Given the description of an element on the screen output the (x, y) to click on. 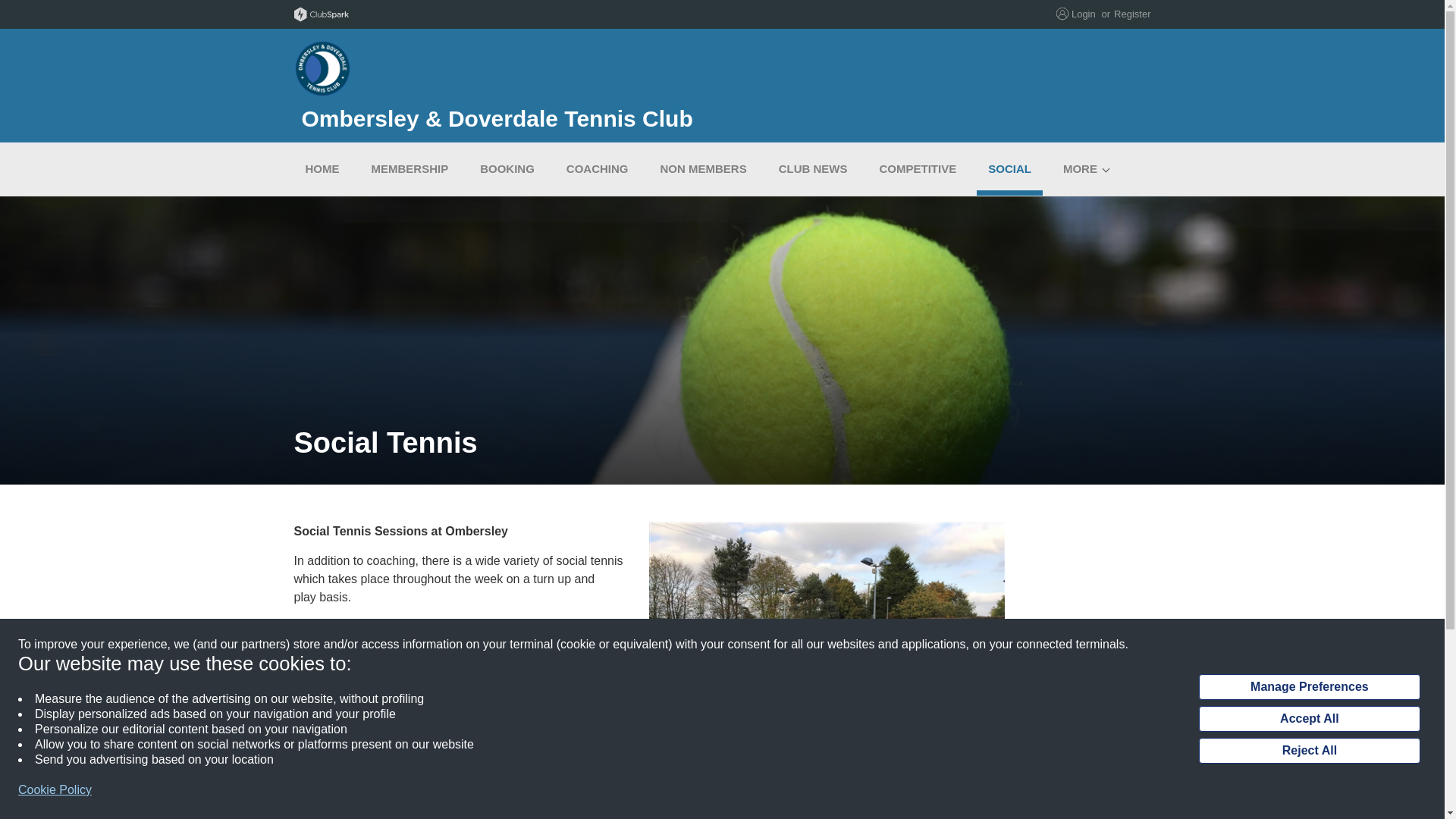
COMPETITIVE (917, 168)
COACHING (597, 168)
CLUB NEWS (813, 168)
Login (1083, 13)
Reject All (1309, 750)
Cookie Policy (54, 789)
Register (1131, 13)
MEMBERSHIP (409, 168)
MORE (1079, 168)
HOME (322, 168)
Manage Preferences (1309, 687)
SOCIAL (1009, 168)
ClubSpark (508, 14)
BOOKING (507, 168)
NON MEMBERS (703, 168)
